Given the description of an element on the screen output the (x, y) to click on. 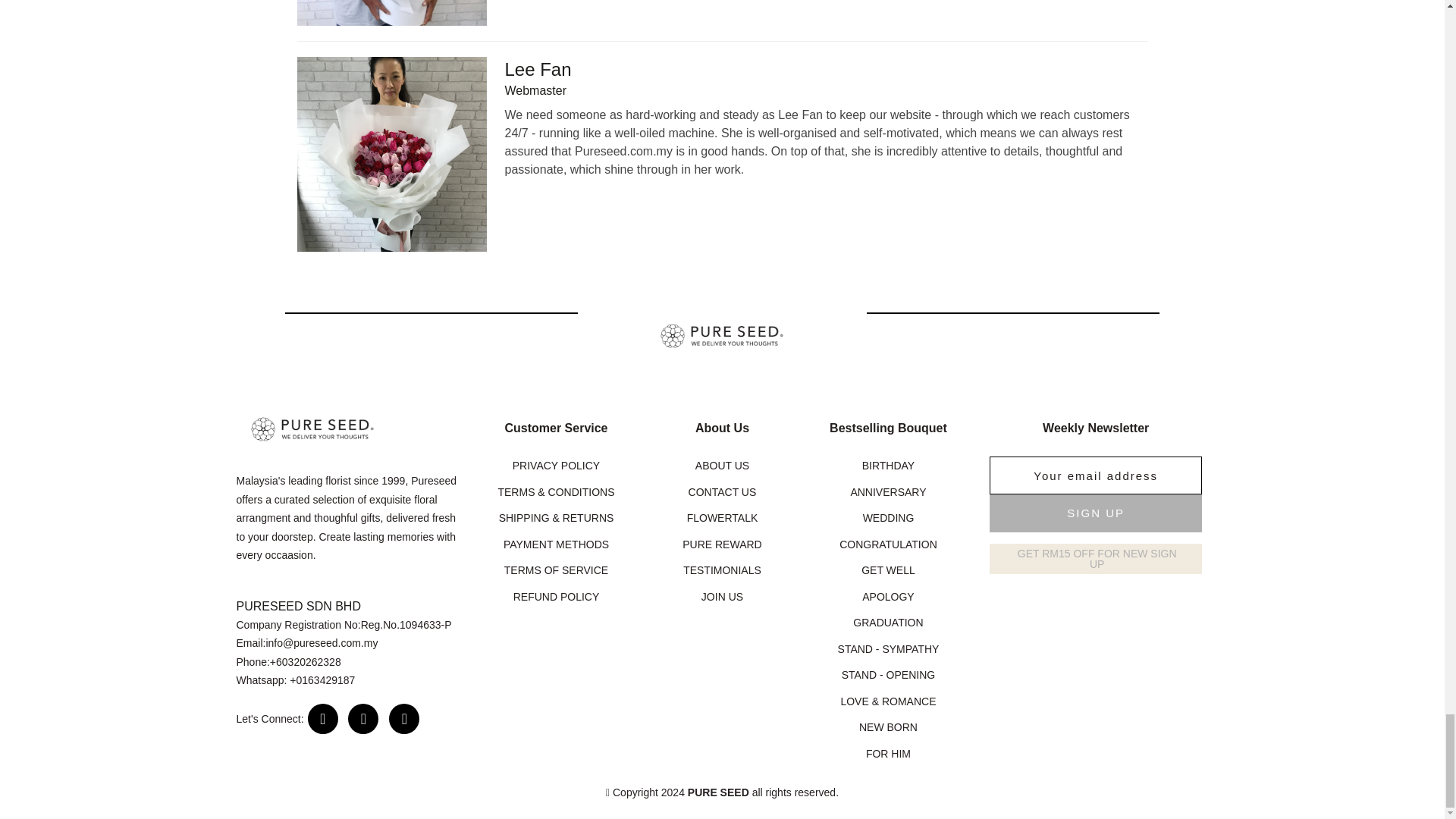
Sign up (1096, 513)
